Given the description of an element on the screen output the (x, y) to click on. 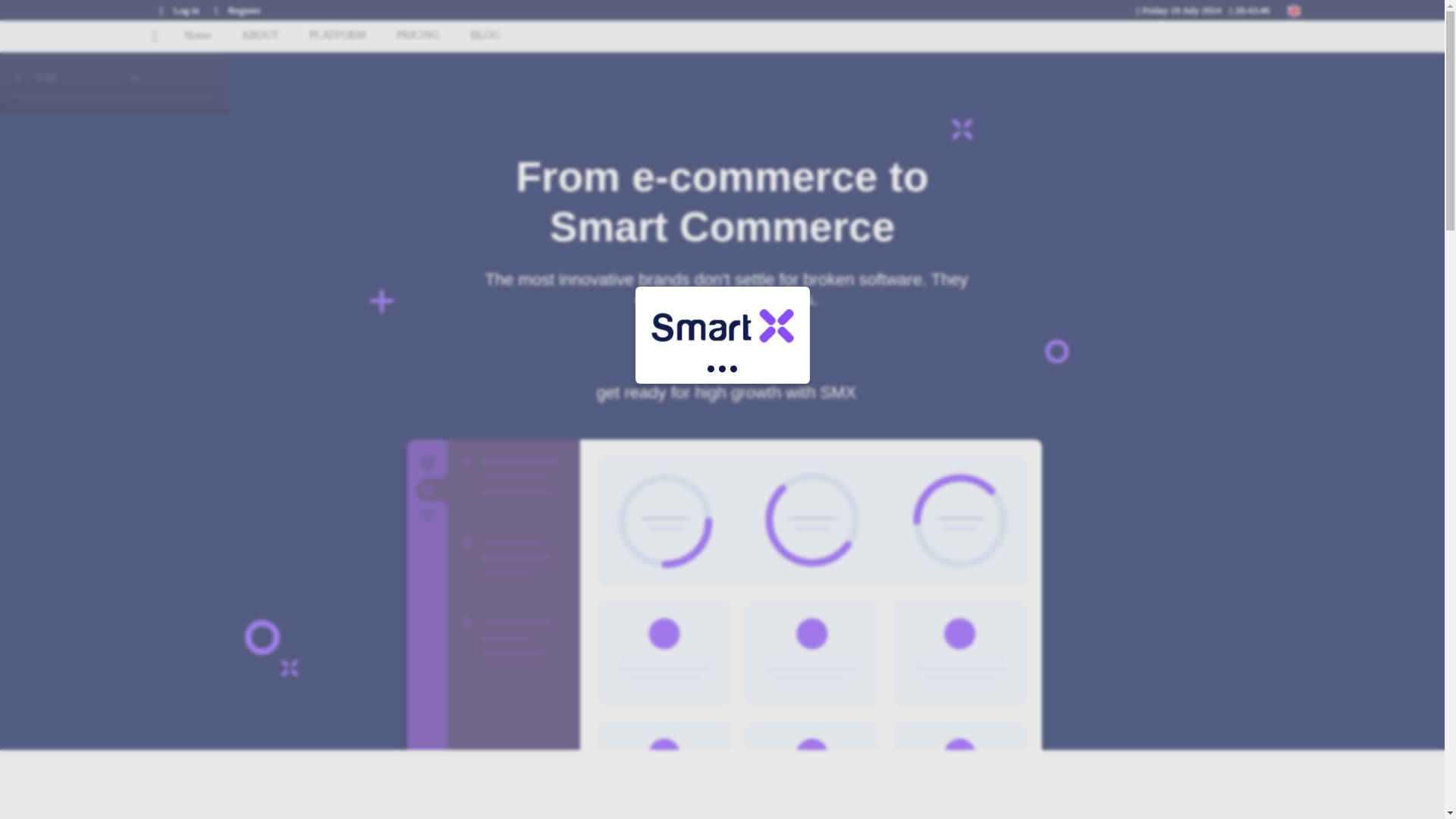
logo (721, 325)
ABOUT (259, 36)
Home (196, 36)
BLOG (484, 36)
Register (233, 10)
Log in (174, 10)
PLATFORM (337, 36)
PRICING (418, 36)
Start free trial (721, 350)
